Given the description of an element on the screen output the (x, y) to click on. 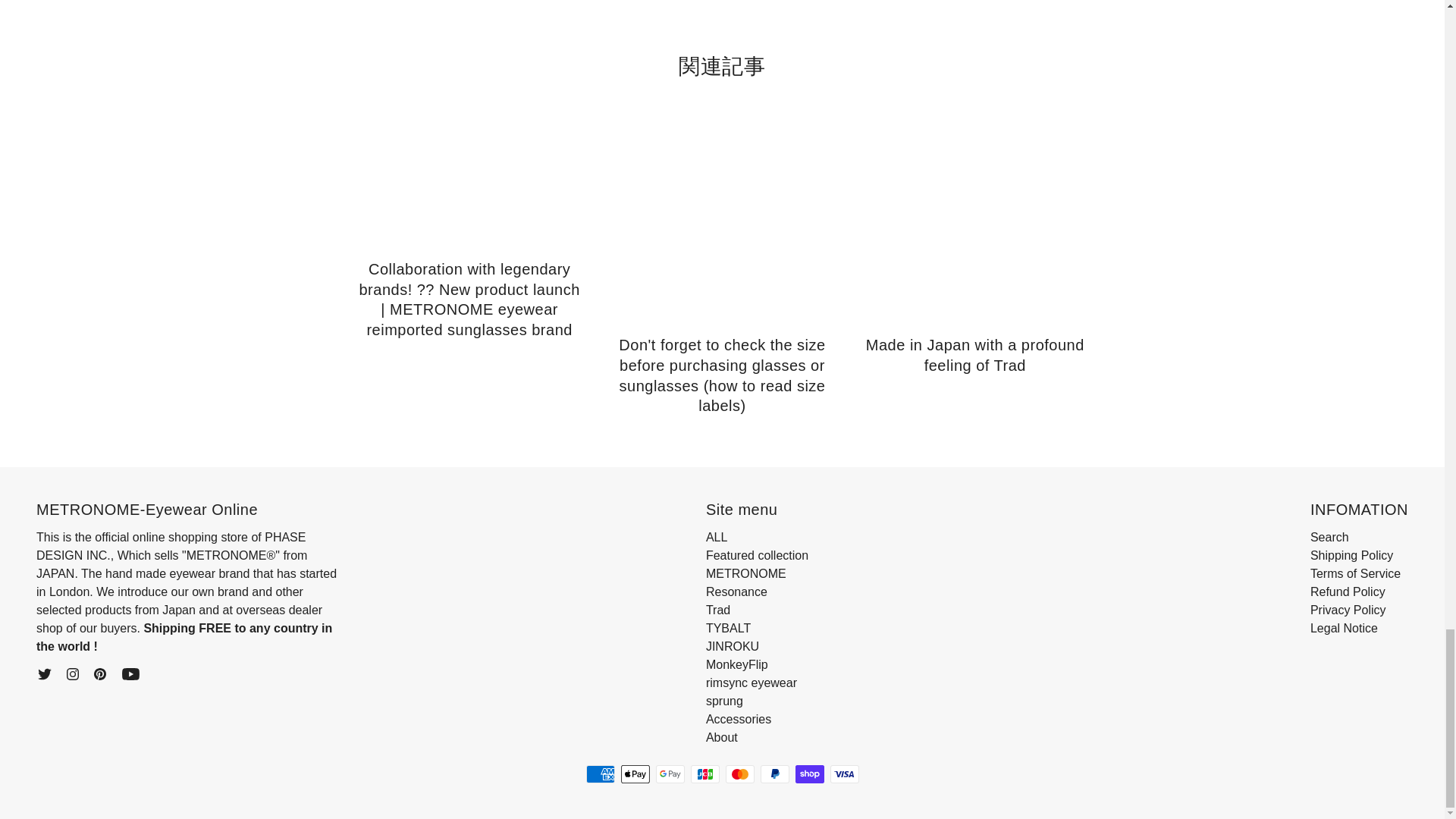
Trad (718, 609)
About (722, 737)
Visa (844, 773)
MonkeyFlip (737, 664)
PayPal (774, 773)
JINROKU (732, 645)
Shop Pay (809, 773)
ALL (716, 536)
Accessories (738, 718)
Featured collection (757, 554)
